Given the description of an element on the screen output the (x, y) to click on. 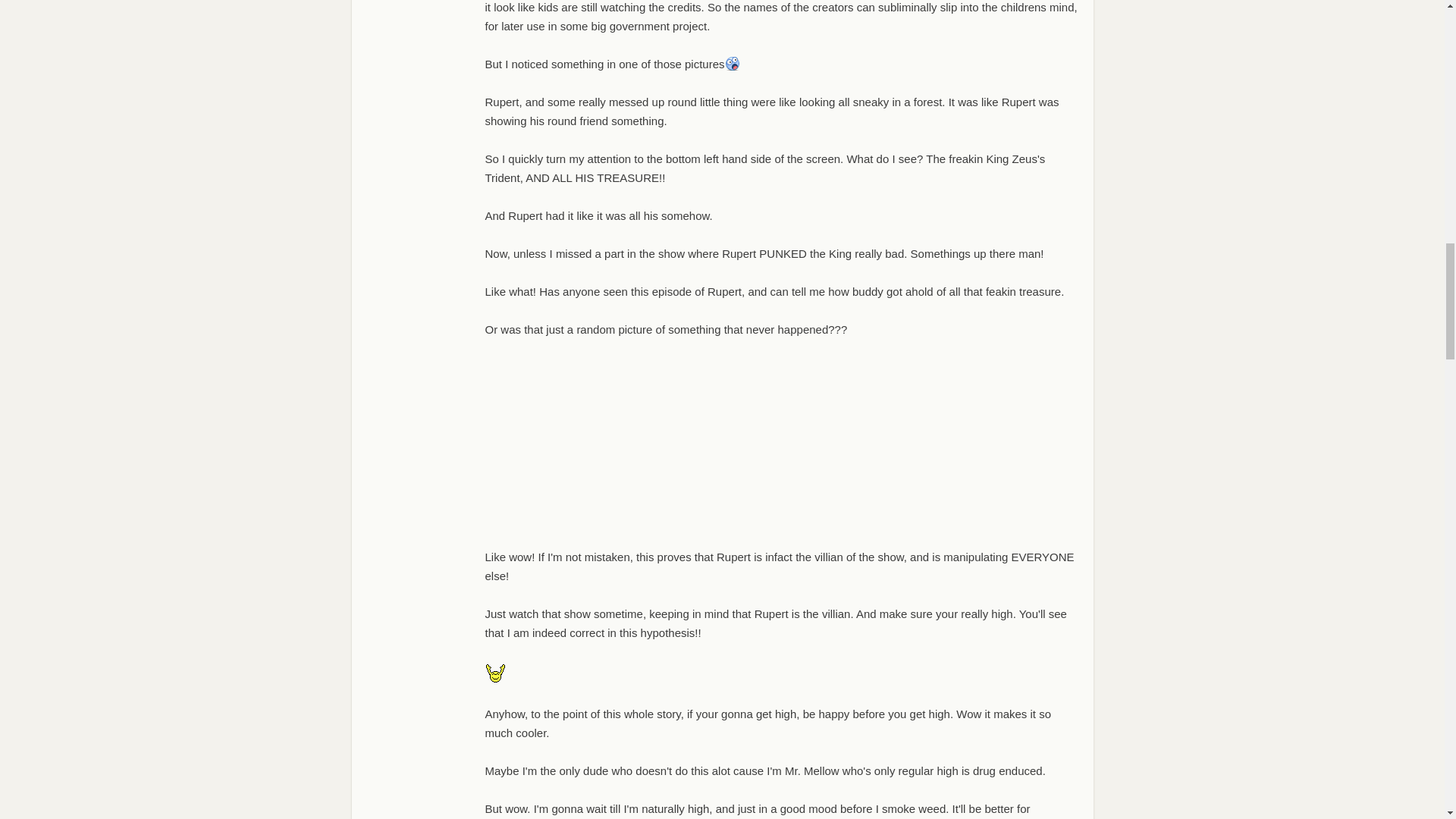
Hello    :hello: (493, 671)
Eek!    :eek: (732, 63)
